Given the description of an element on the screen output the (x, y) to click on. 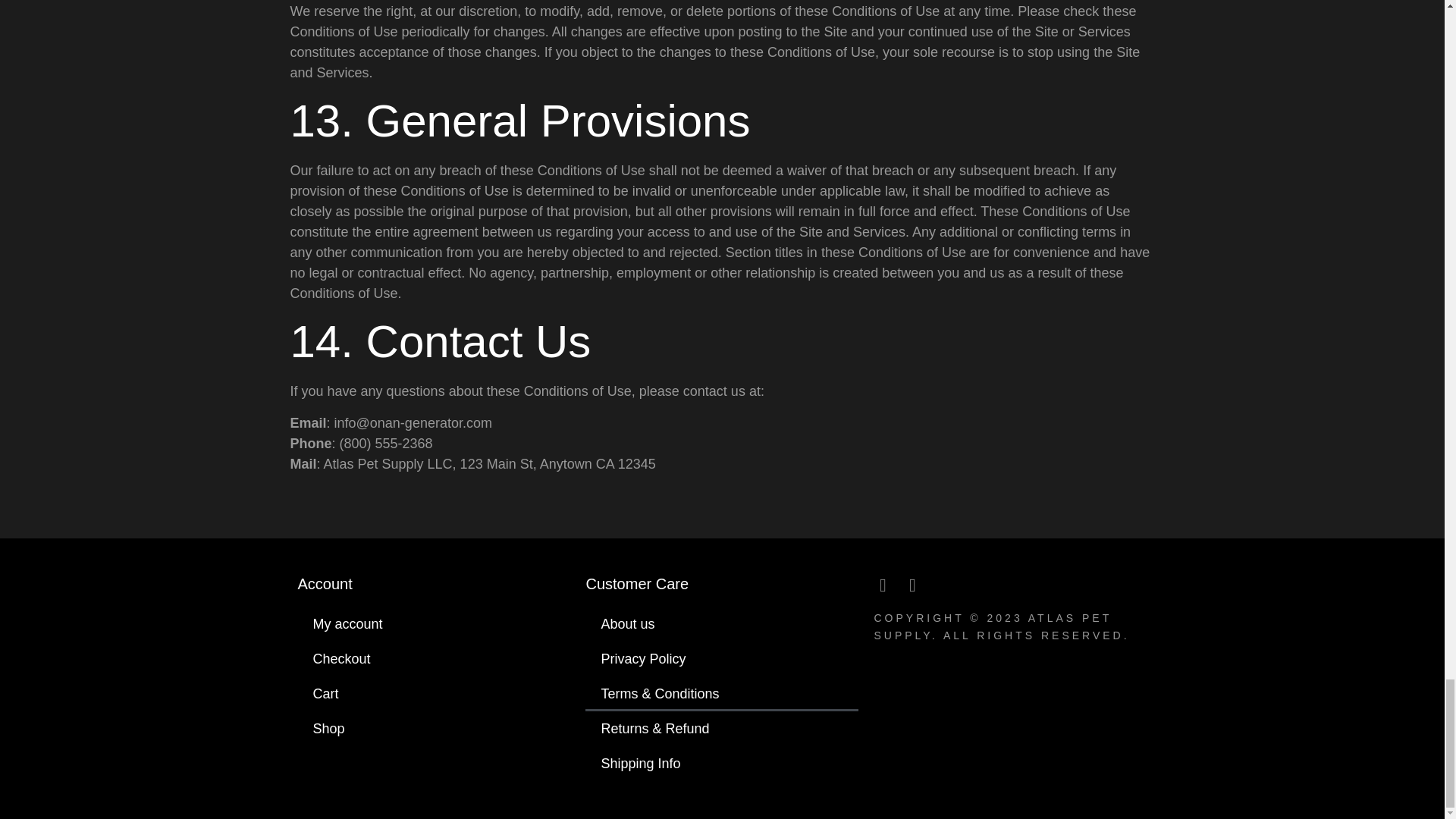
About us (722, 623)
Shop (433, 728)
Shipping Info (722, 763)
Cart (433, 693)
Checkout (433, 658)
My account (433, 623)
Privacy Policy (722, 658)
